Given the description of an element on the screen output the (x, y) to click on. 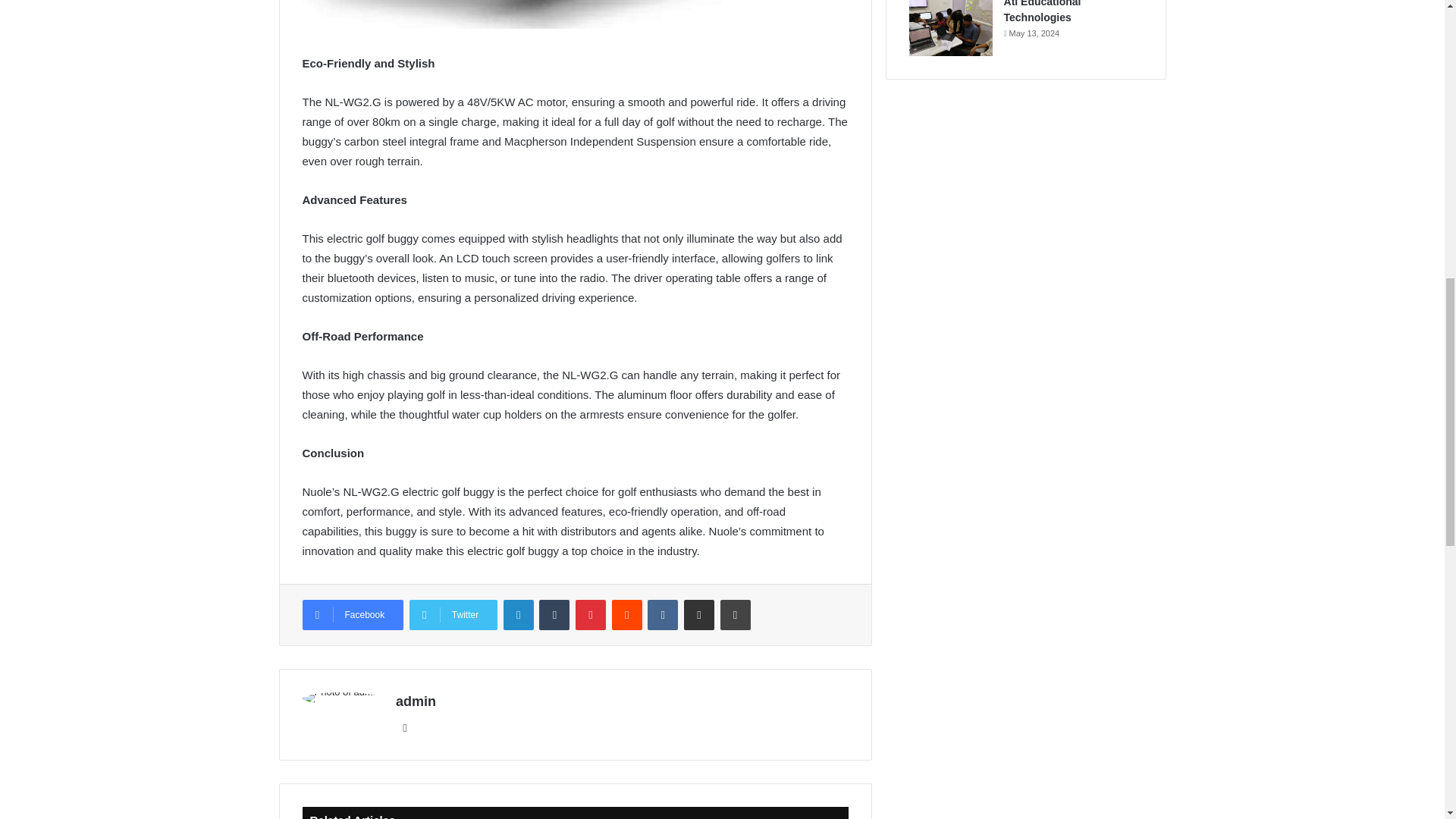
Reddit (626, 614)
LinkedIn (518, 614)
LinkedIn (518, 614)
Twitter (453, 614)
Tumblr (553, 614)
admin (415, 701)
Print (735, 614)
Tumblr (553, 614)
Share via Email (699, 614)
VKontakte (662, 614)
Pinterest (590, 614)
Facebook (352, 614)
Pinterest (590, 614)
VKontakte (662, 614)
Website (404, 728)
